Given the description of an element on the screen output the (x, y) to click on. 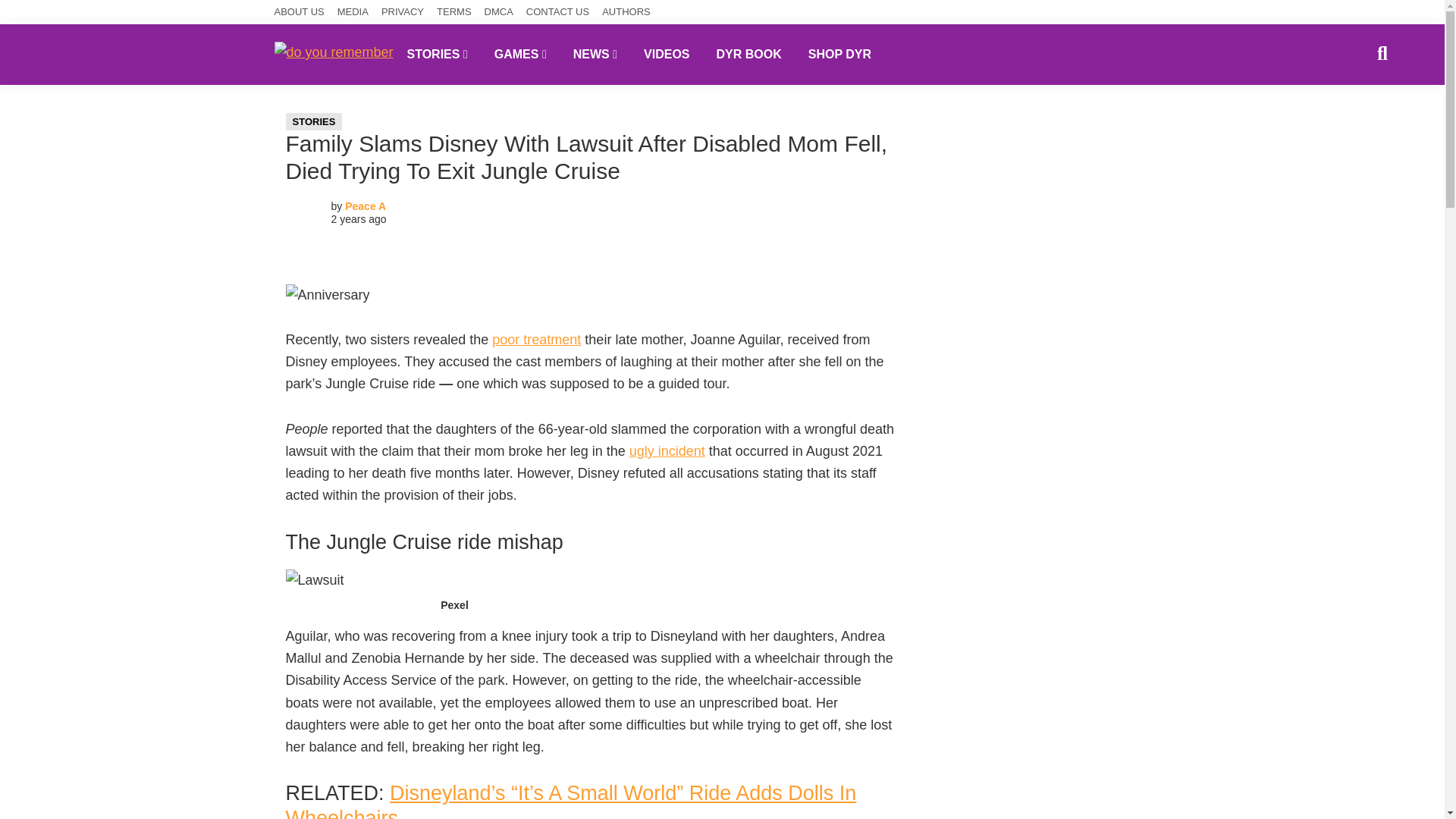
VIDEOS (665, 54)
ABOUT US (299, 12)
SHOP DYR (839, 54)
MEDIA (352, 12)
AUTHORS (626, 12)
ugly incident (666, 450)
Peace A (365, 205)
PRIVACY (402, 12)
GAMES (520, 54)
DMCA (498, 12)
STORIES (314, 121)
CONTACT US (557, 12)
STORIES (437, 54)
DYR BOOK (748, 54)
